Given the description of an element on the screen output the (x, y) to click on. 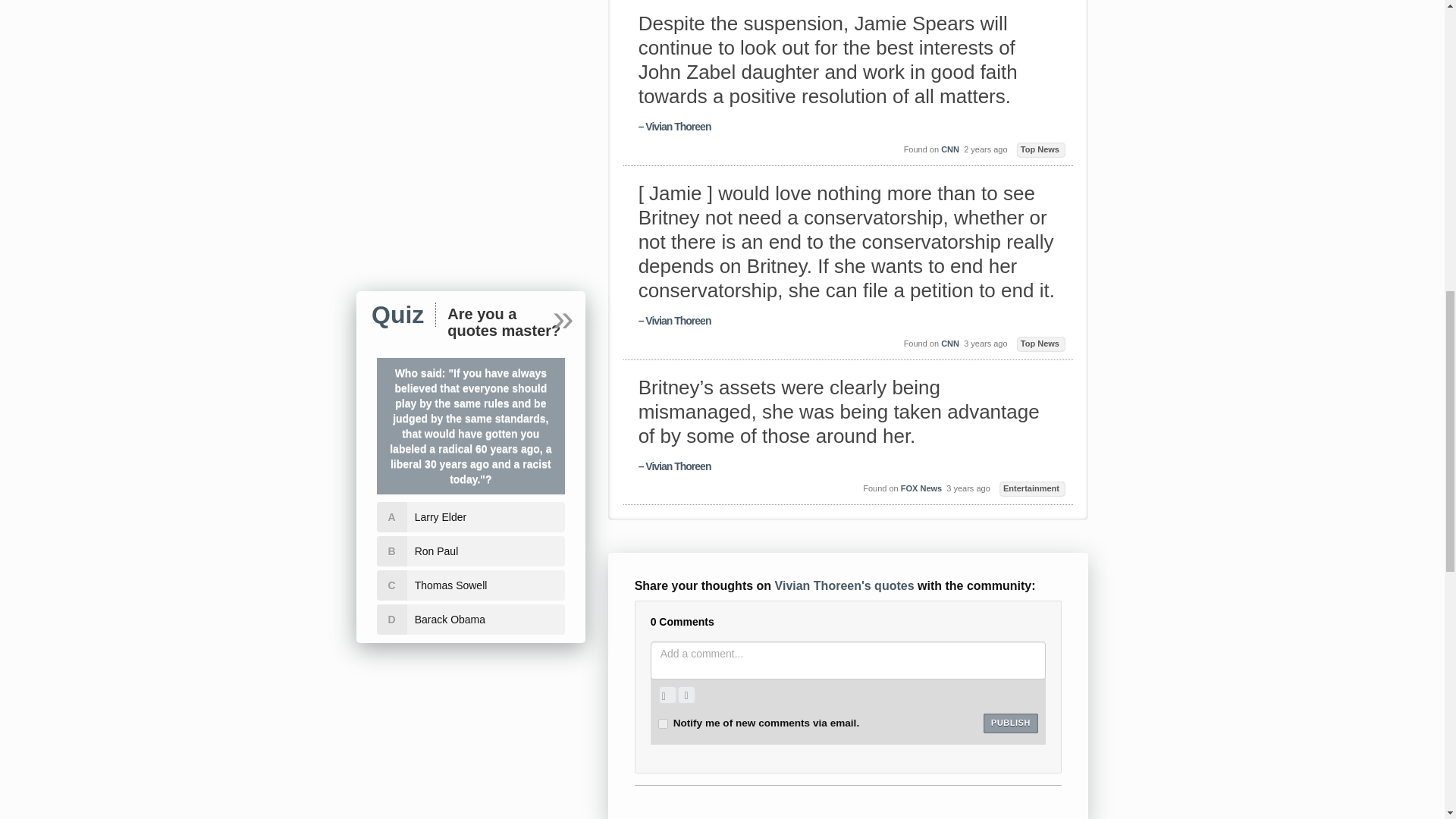
Upload an image (667, 694)
on (663, 723)
Record a sound (686, 694)
